Given the description of an element on the screen output the (x, y) to click on. 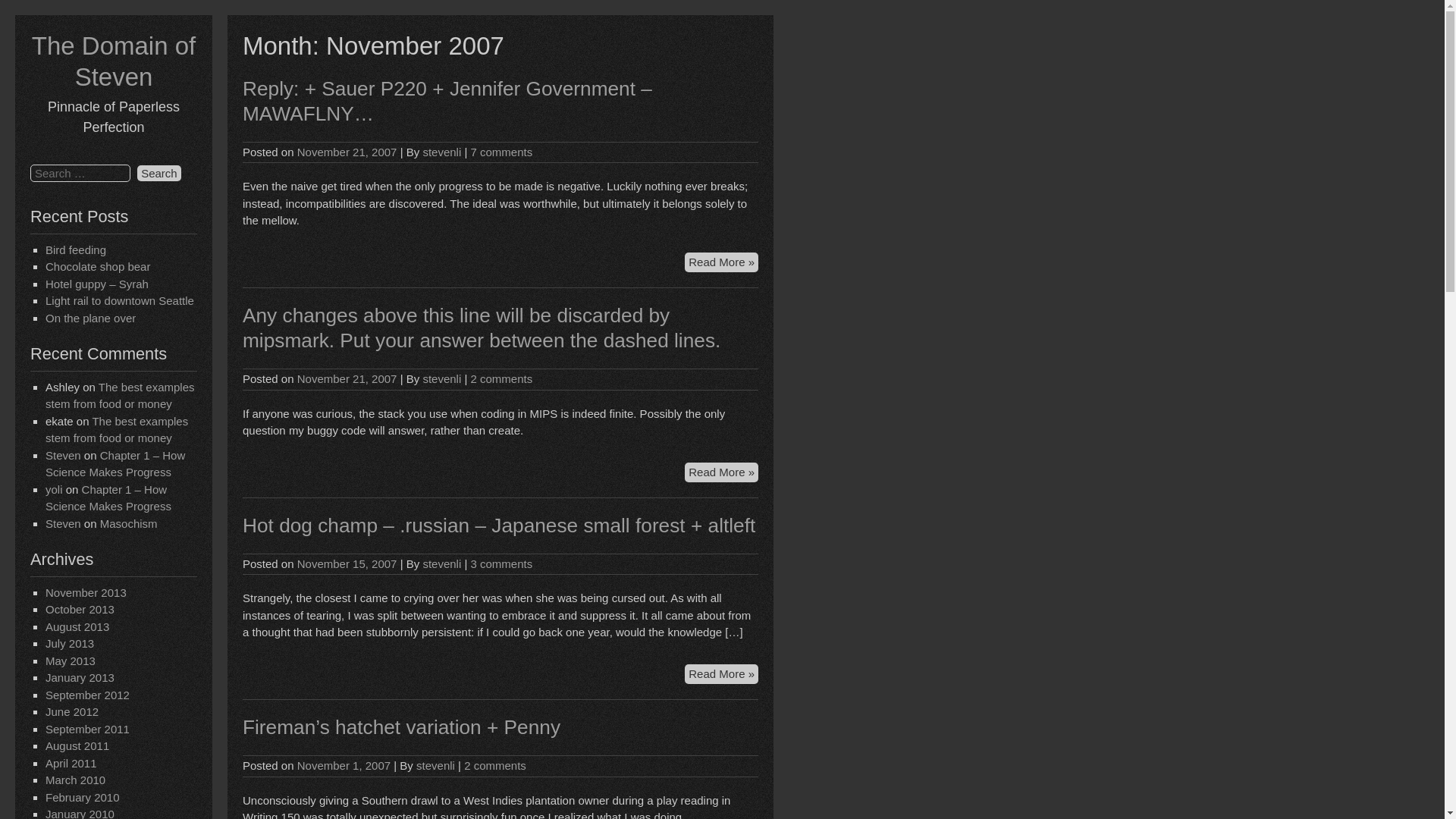
May 2013 (70, 660)
August 2013 (77, 626)
October 2013 (80, 608)
April 2011 (71, 762)
On the plane over (90, 318)
March 2010 (74, 779)
The Domain of Steven (113, 60)
November 2013 (85, 592)
Chocolate shop bear (97, 266)
Steven (63, 522)
